Given the description of an element on the screen output the (x, y) to click on. 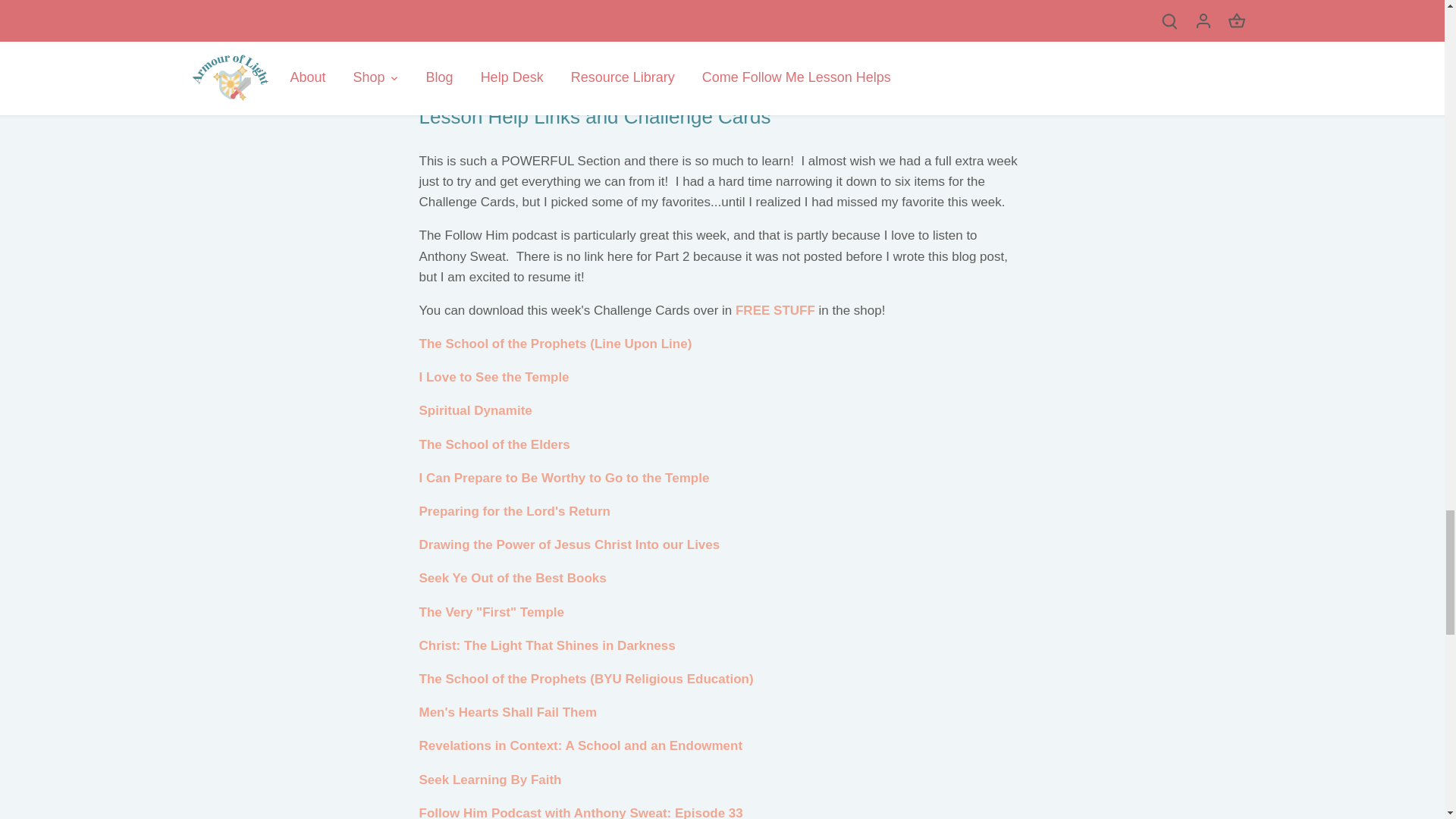
Preparing for the Lord's Return (514, 511)
Spiritual Dynamite (475, 410)
The Very "First" Temple (491, 612)
Drawing the Power of Jesus Christ Into our Lives (569, 544)
The Very "First" Temple (491, 612)
I Can Prepare to Be Worthy to Go to the Temple (564, 477)
Spiritual Dynamite (475, 410)
FREE STUFF (775, 310)
The School of the Elders (494, 444)
Seek Ye Out of the Best Books (512, 577)
Free Printables for Come Follow Me Doctrine and Covenants (775, 310)
Follow Him Podcast with Anthony Sweat: Episode 33 (580, 812)
Christ: The Light That Shines in Darkness (547, 645)
I Love to See the Temple (494, 377)
Seek Ye Out of the Best Books (512, 577)
